Given the description of an element on the screen output the (x, y) to click on. 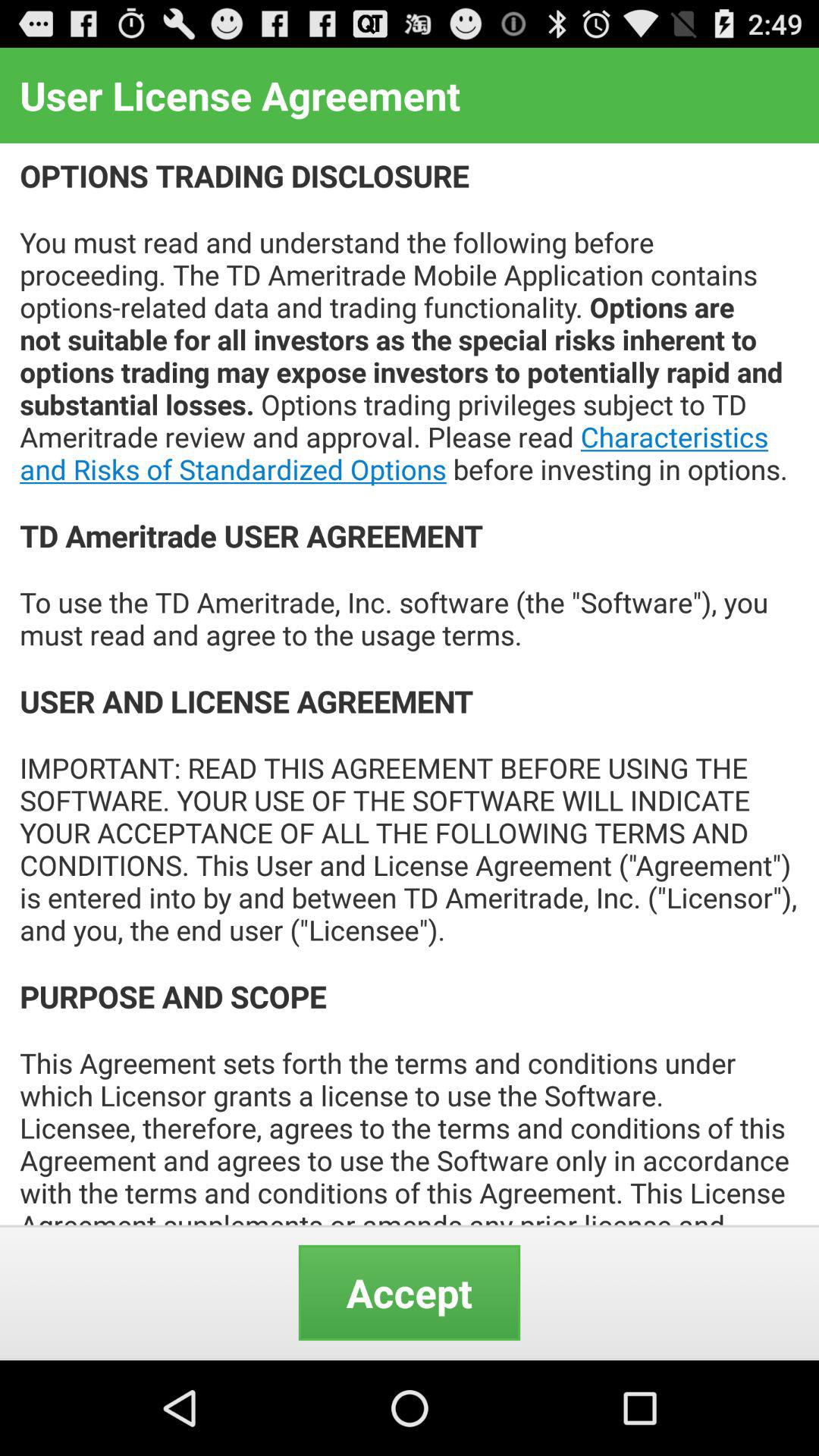
flip to the accept item (409, 1292)
